Given the description of an element on the screen output the (x, y) to click on. 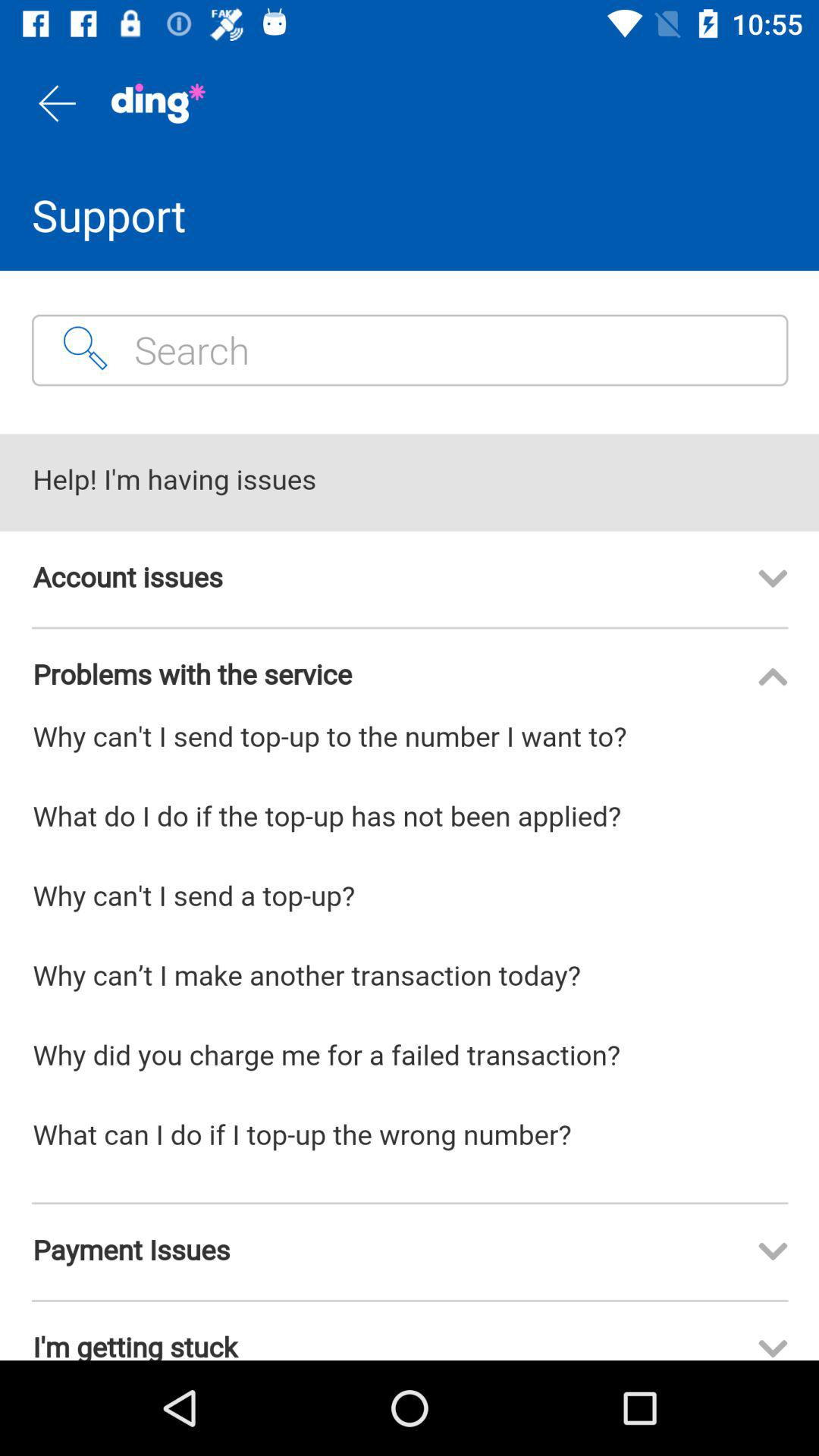
go back (55, 103)
